Given the description of an element on the screen output the (x, y) to click on. 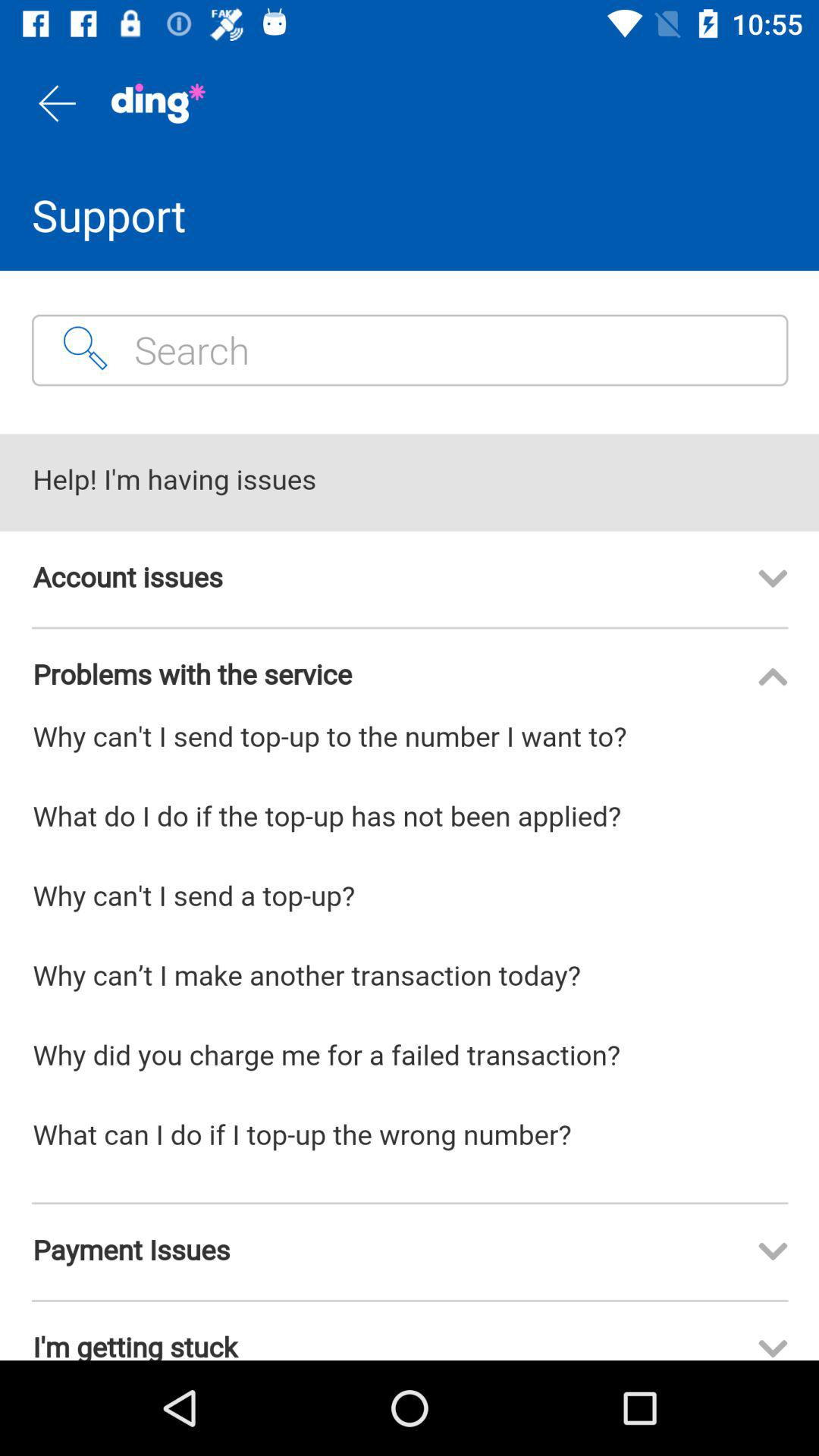
go back (55, 103)
